Given the description of an element on the screen output the (x, y) to click on. 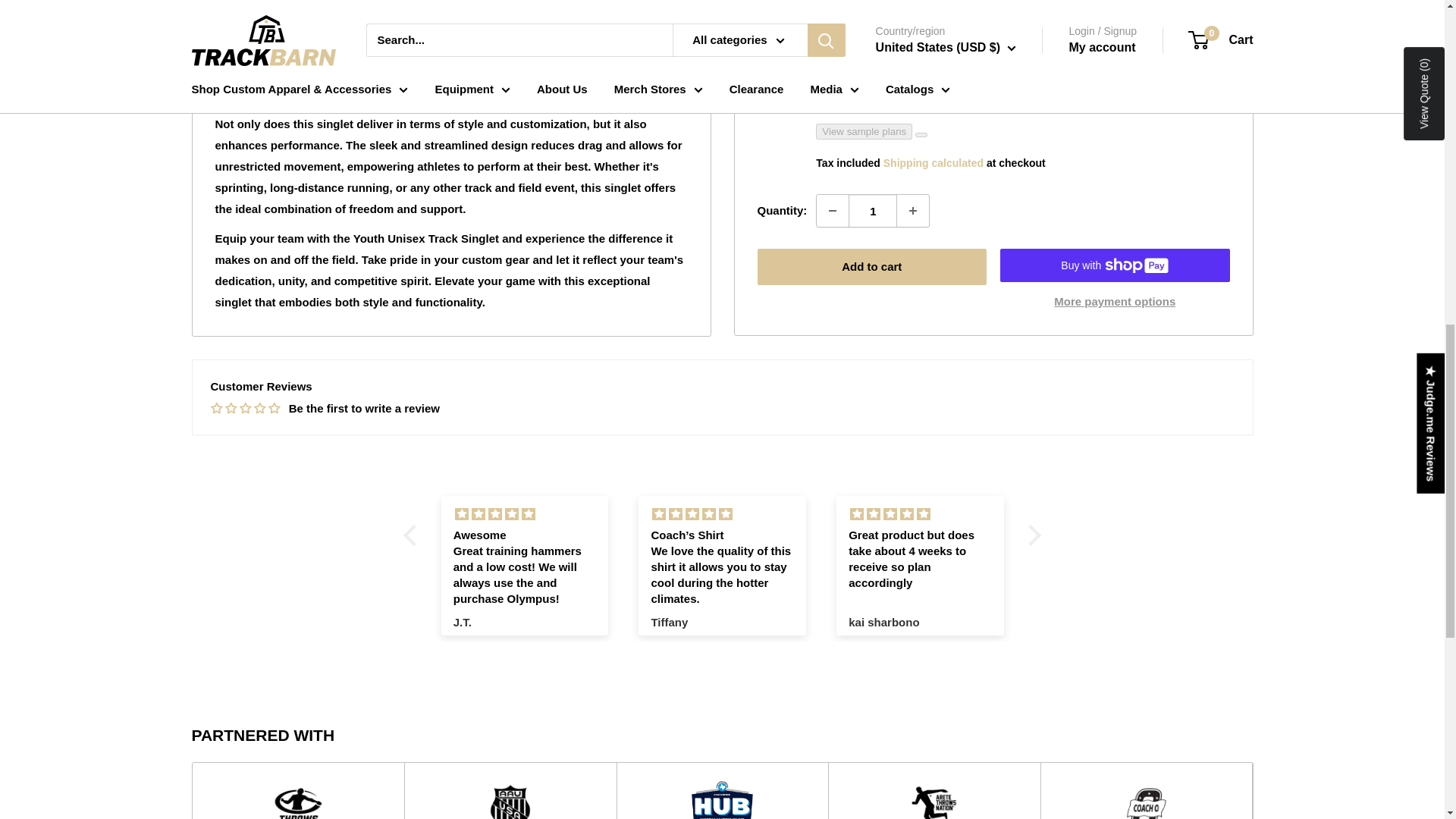
Increase quantity by 1 (912, 88)
Decrease quantity by 1 (832, 88)
1 (872, 88)
